Given the description of an element on the screen output the (x, y) to click on. 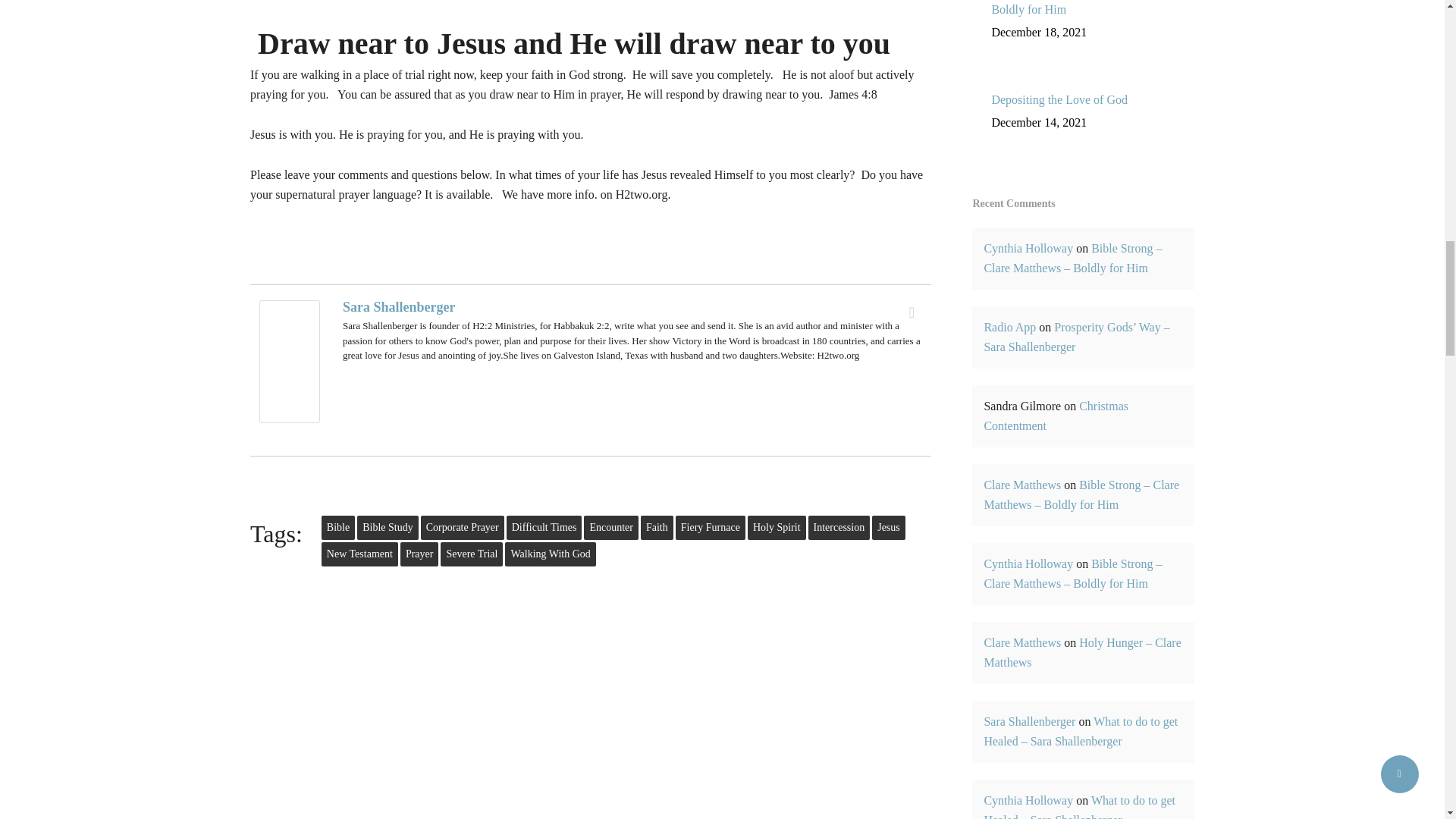
Bible Study (387, 527)
Encounter (611, 527)
Facebook (911, 312)
Sara Shallenberger (289, 430)
Corporate Prayer (461, 527)
Bible (338, 527)
Sara Shallenberger (398, 306)
Difficult Times (544, 527)
